Given the description of an element on the screen output the (x, y) to click on. 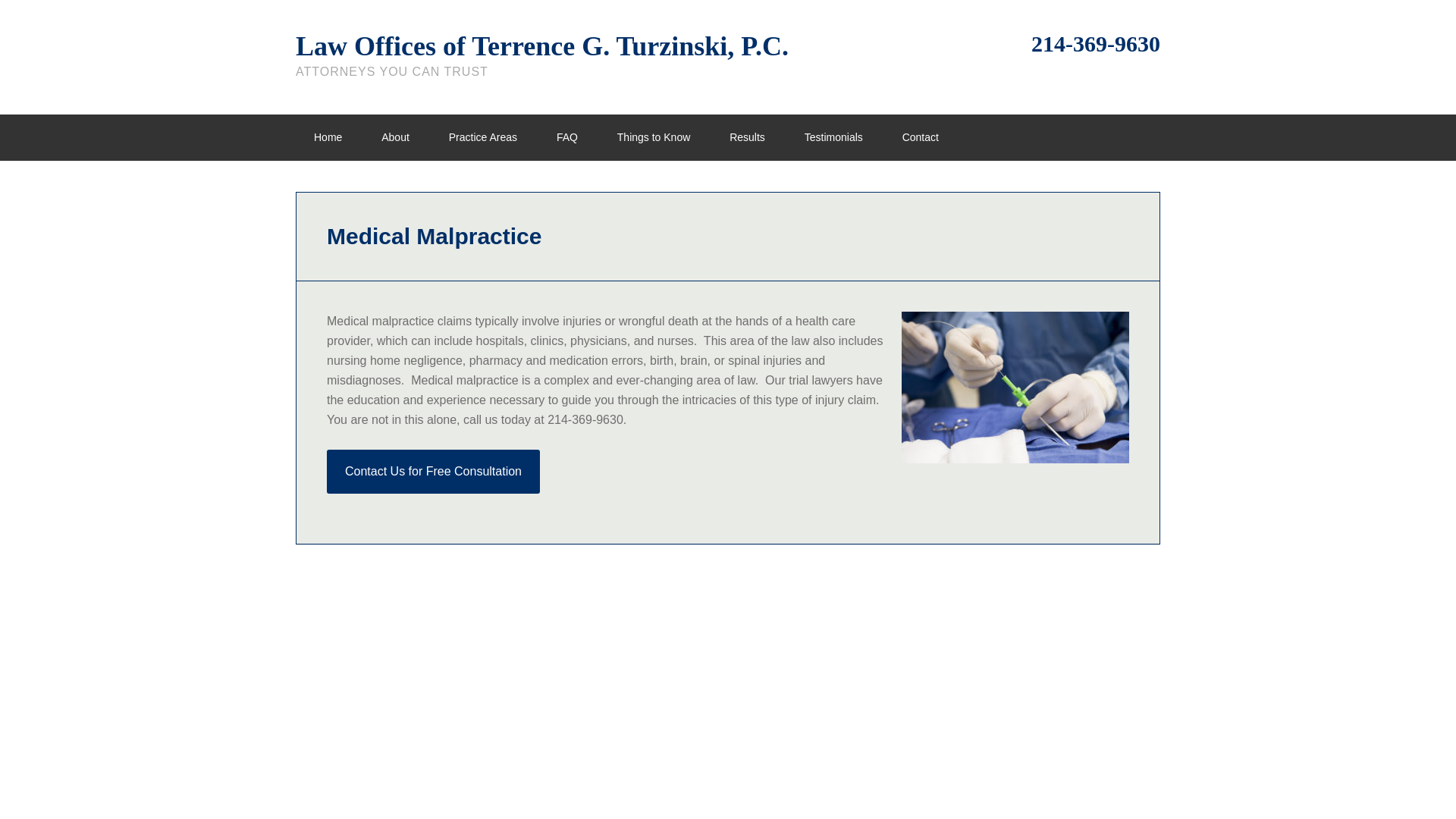
Law Offices of Terrence G. Turzinski, P.C. (542, 46)
Testimonials (833, 137)
About (395, 137)
FAQ (566, 137)
Things to Know (653, 137)
Results (747, 137)
Contact Us for Free Consultation (433, 471)
Practice Areas (482, 137)
Home (327, 137)
Contact (919, 137)
